Given the description of an element on the screen output the (x, y) to click on. 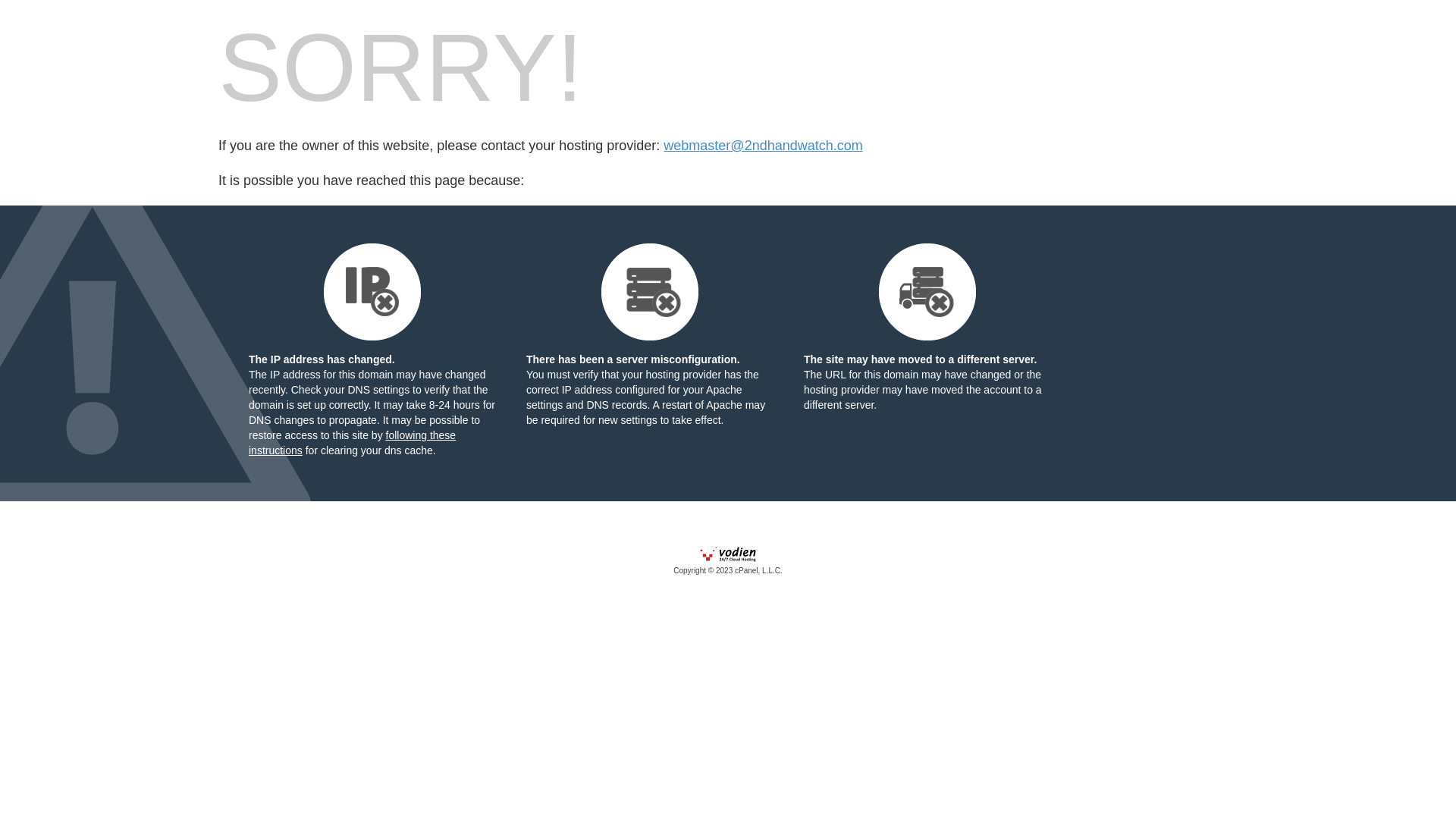
following these instructions Element type: text (351, 442)
webmaster@2ndhandwatch.com Element type: text (762, 145)
